Given the description of an element on the screen output the (x, y) to click on. 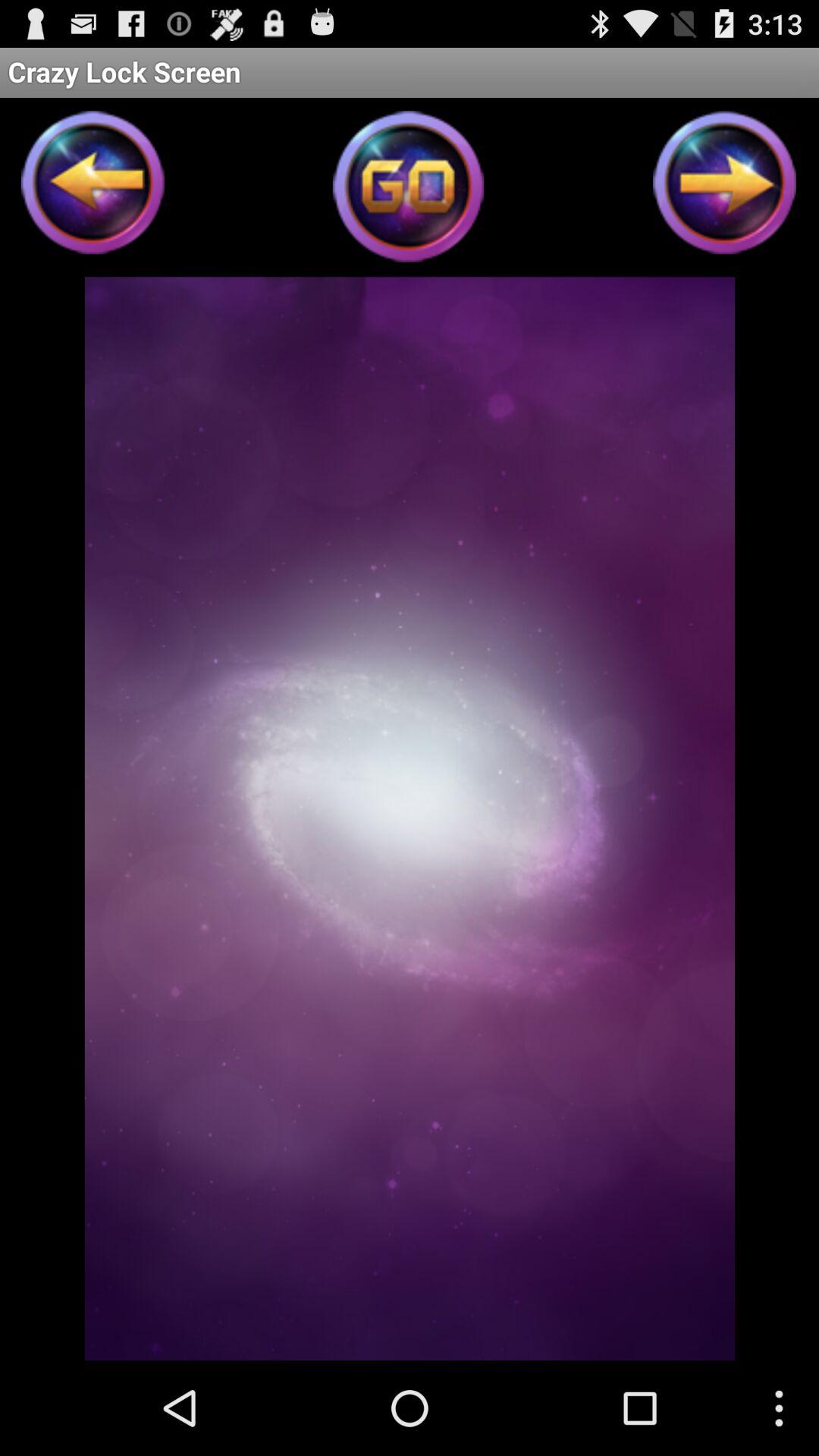
next button (725, 186)
